Given the description of an element on the screen output the (x, y) to click on. 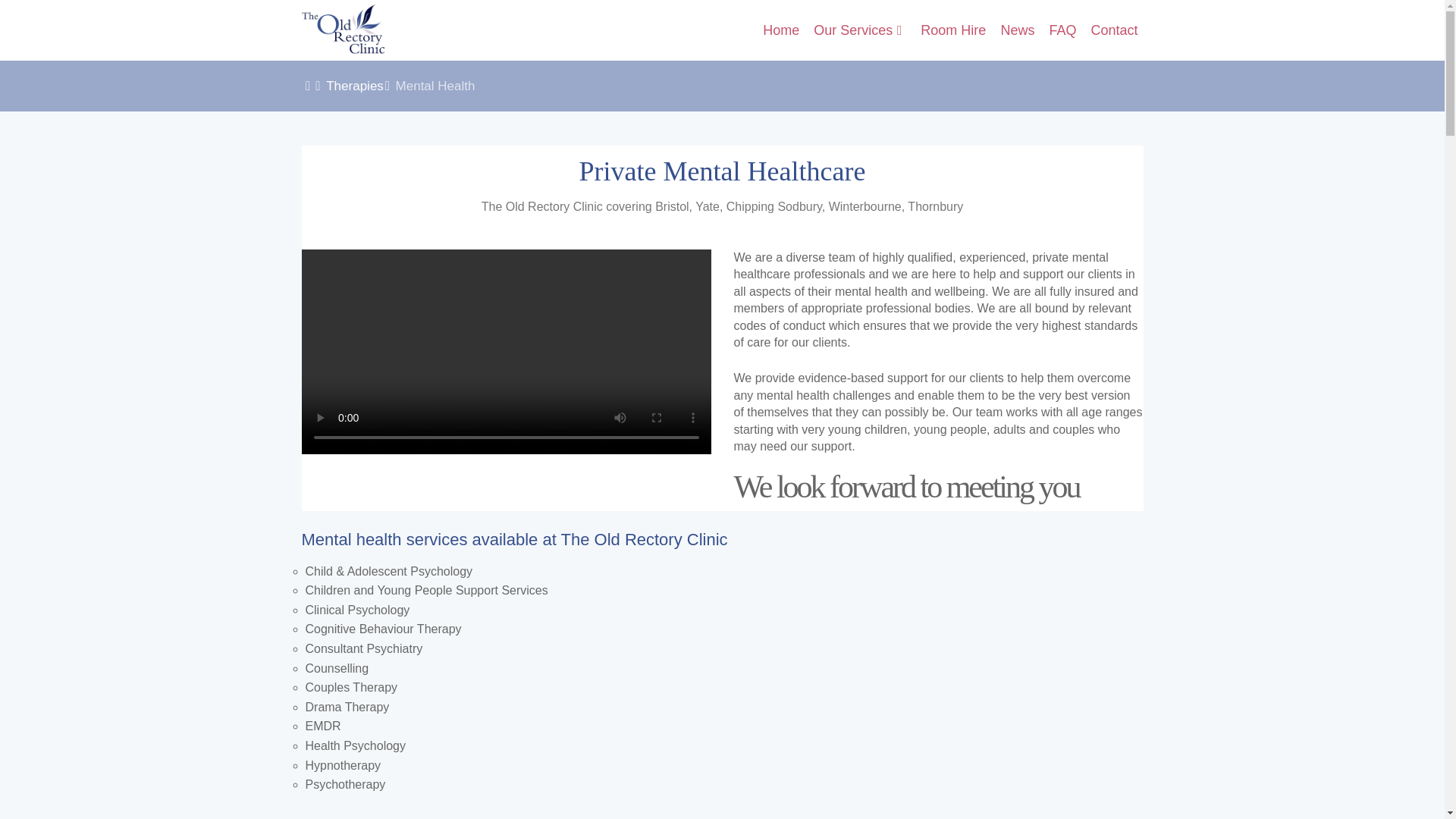
Health Psychology (355, 745)
Therapies (355, 85)
Hypnotherapy (342, 765)
Drama Therapy (346, 707)
EMDR (322, 725)
Couples Therapy (350, 686)
The Old Rectory Clinic (343, 30)
Children and Young People Support Services (425, 590)
Clinical Psychology (356, 609)
Consultant Psychiatry (363, 648)
